Given the description of an element on the screen output the (x, y) to click on. 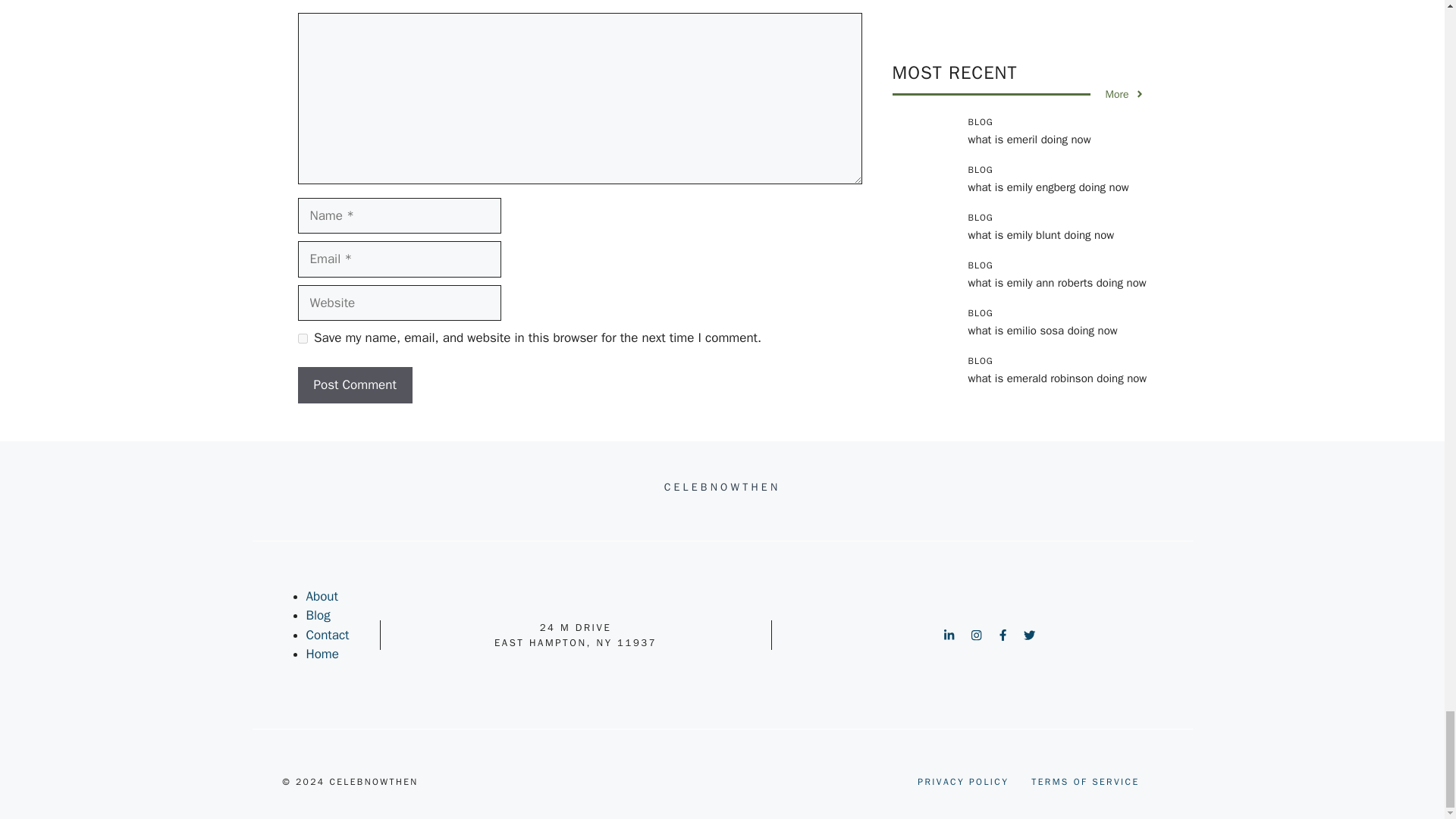
yes (302, 338)
Post Comment (354, 384)
Post Comment (354, 384)
